Given the description of an element on the screen output the (x, y) to click on. 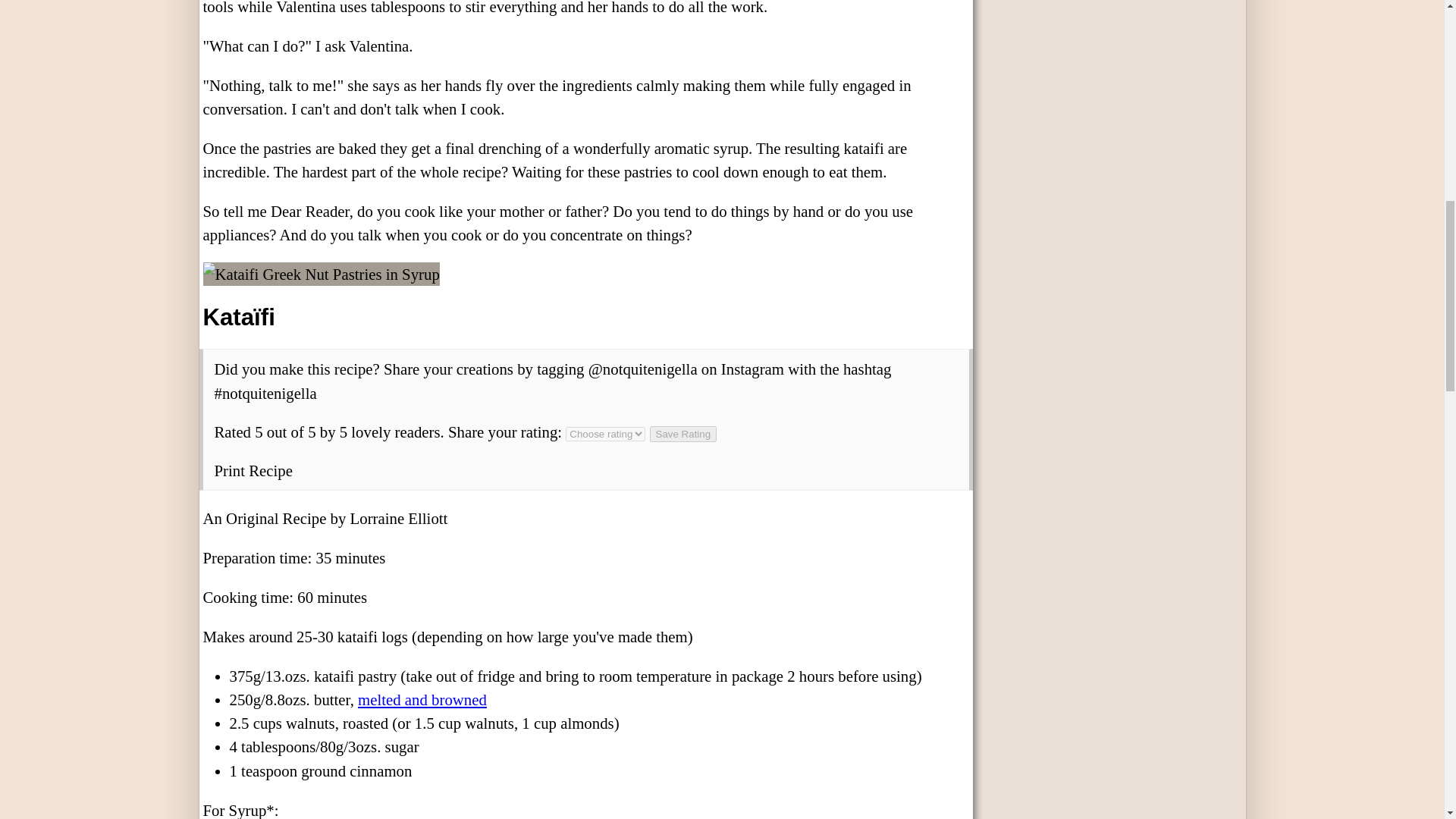
Print Recipe (253, 470)
melted and browned (422, 699)
Save Rating (683, 433)
